Given the description of an element on the screen output the (x, y) to click on. 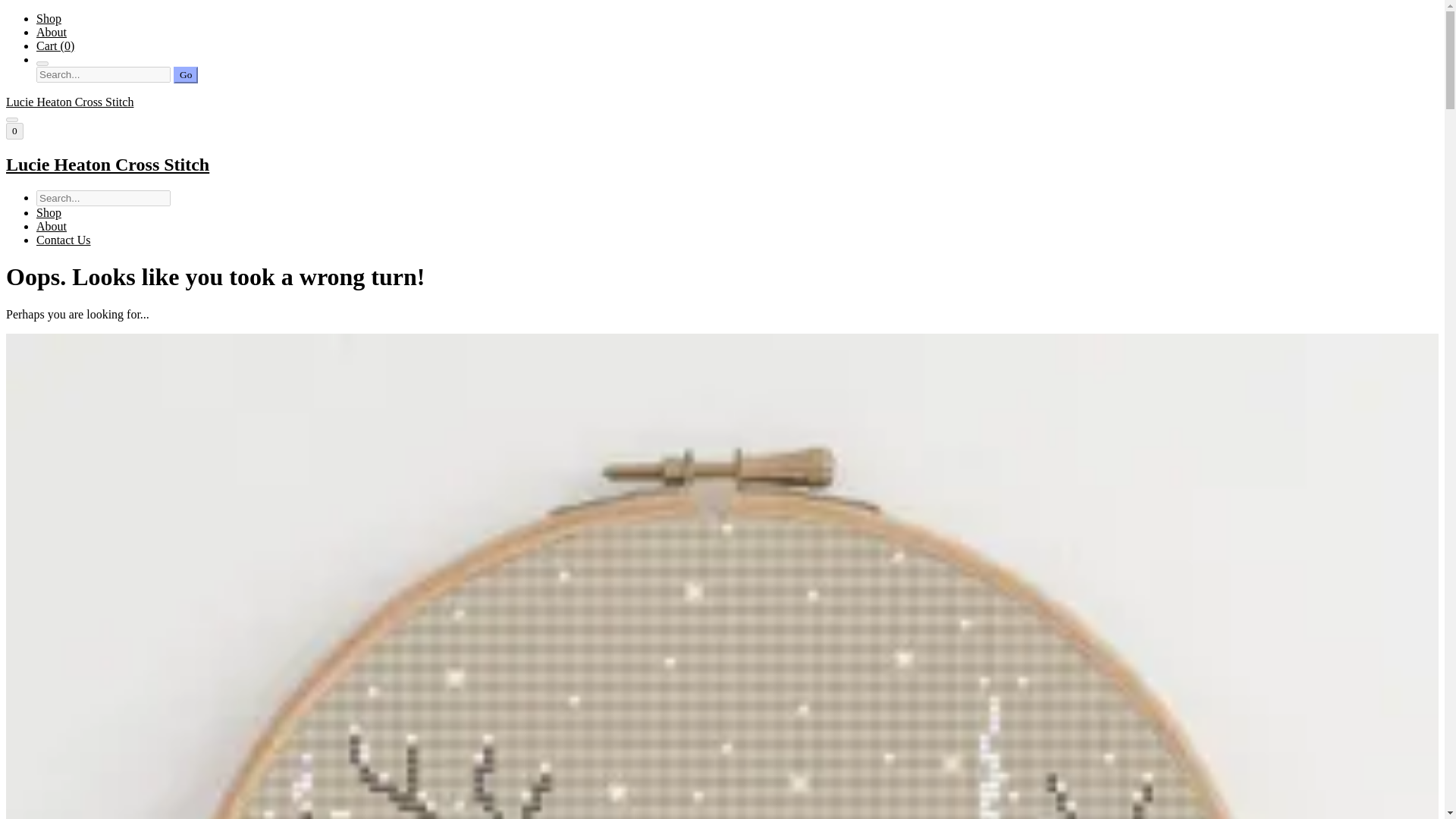
Contact Us (63, 239)
Go (185, 74)
About (51, 31)
Shop (48, 212)
0 (14, 130)
Shop (48, 18)
About (51, 226)
Go (185, 74)
